Given the description of an element on the screen output the (x, y) to click on. 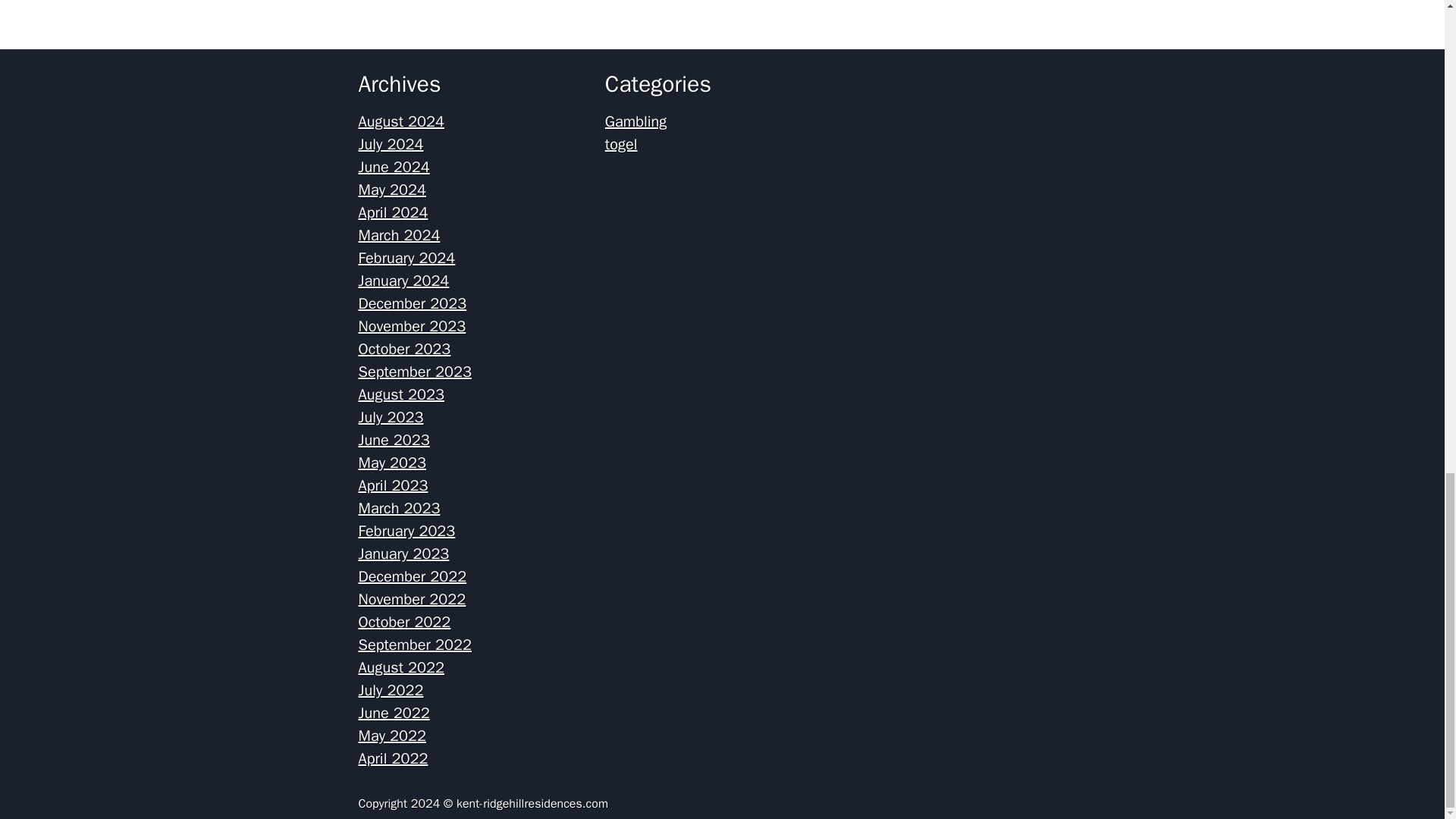
June 2023 (393, 439)
September 2023 (414, 371)
February 2023 (406, 530)
August 2023 (401, 394)
Gambling (635, 121)
June 2022 (393, 712)
May 2023 (392, 462)
May 2024 (392, 189)
July 2022 (390, 690)
June 2024 (393, 167)
